Given the description of an element on the screen output the (x, y) to click on. 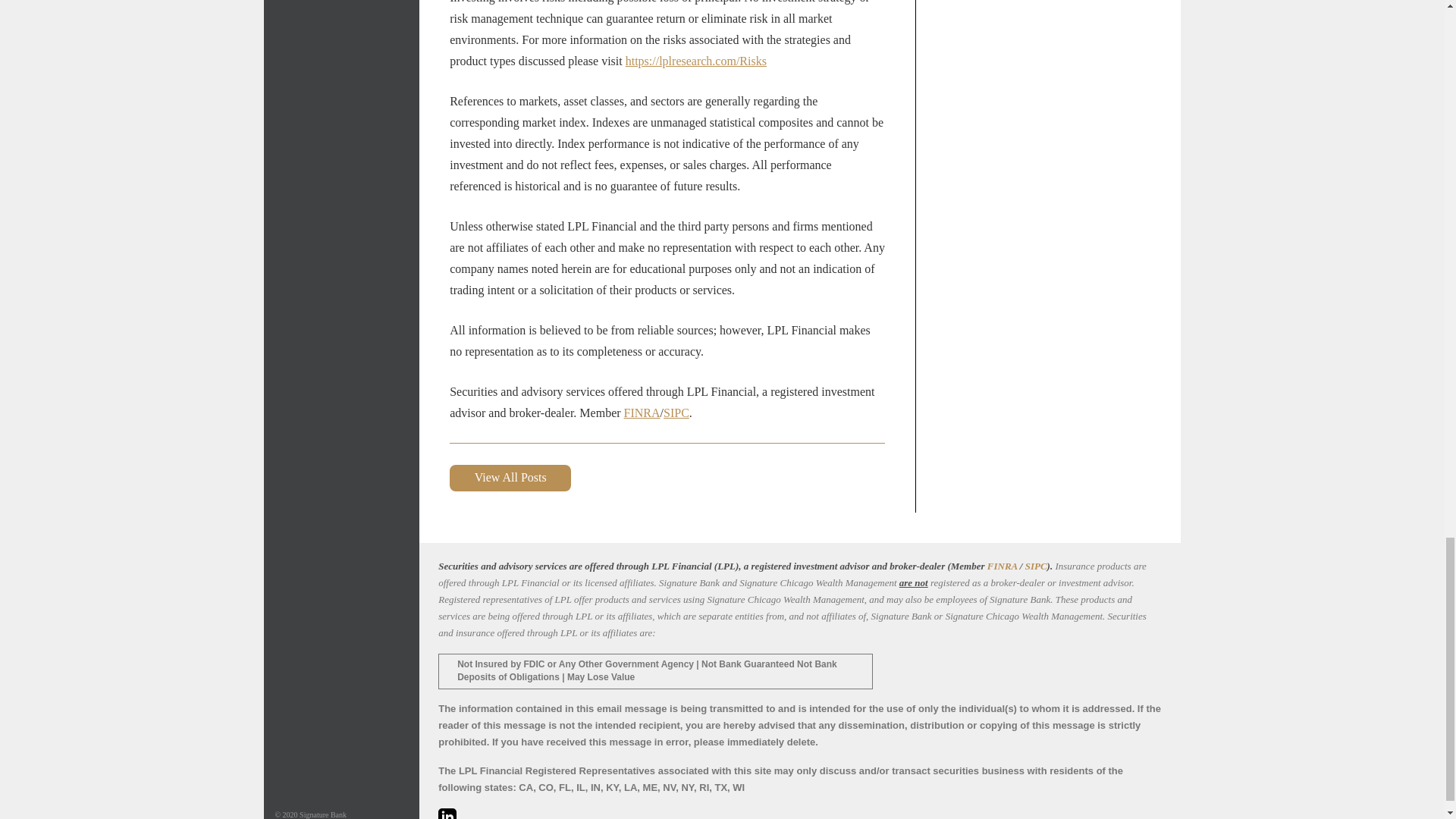
FINRA (642, 412)
FINRA (1002, 565)
SIPC (675, 412)
View All Posts (509, 478)
SIPC (1035, 565)
